Given the description of an element on the screen output the (x, y) to click on. 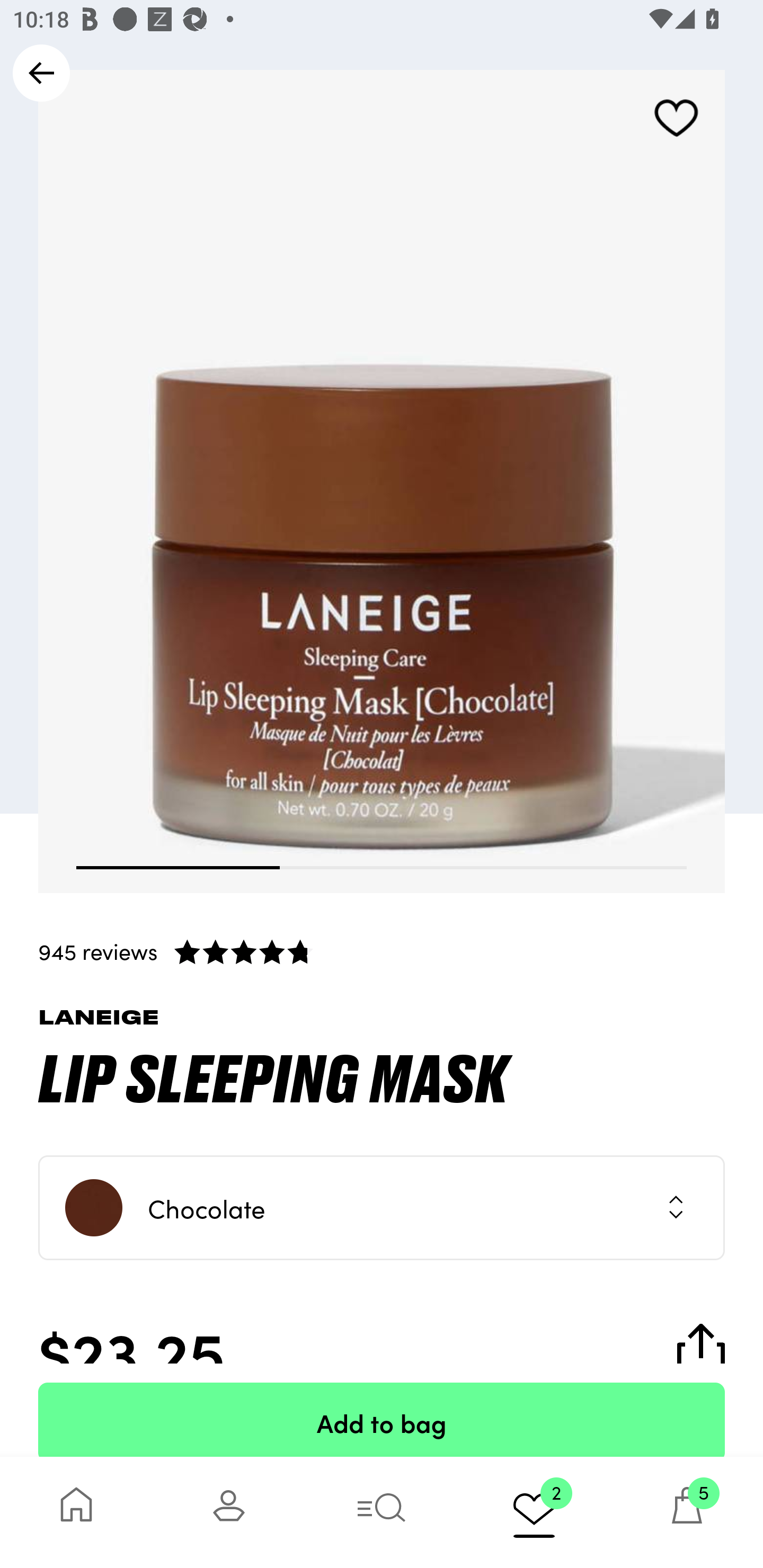
945 reviews (381, 950)
Chocolate  (381, 1207)
Add to bag (381, 1419)
2 (533, 1512)
5 (686, 1512)
